Given the description of an element on the screen output the (x, y) to click on. 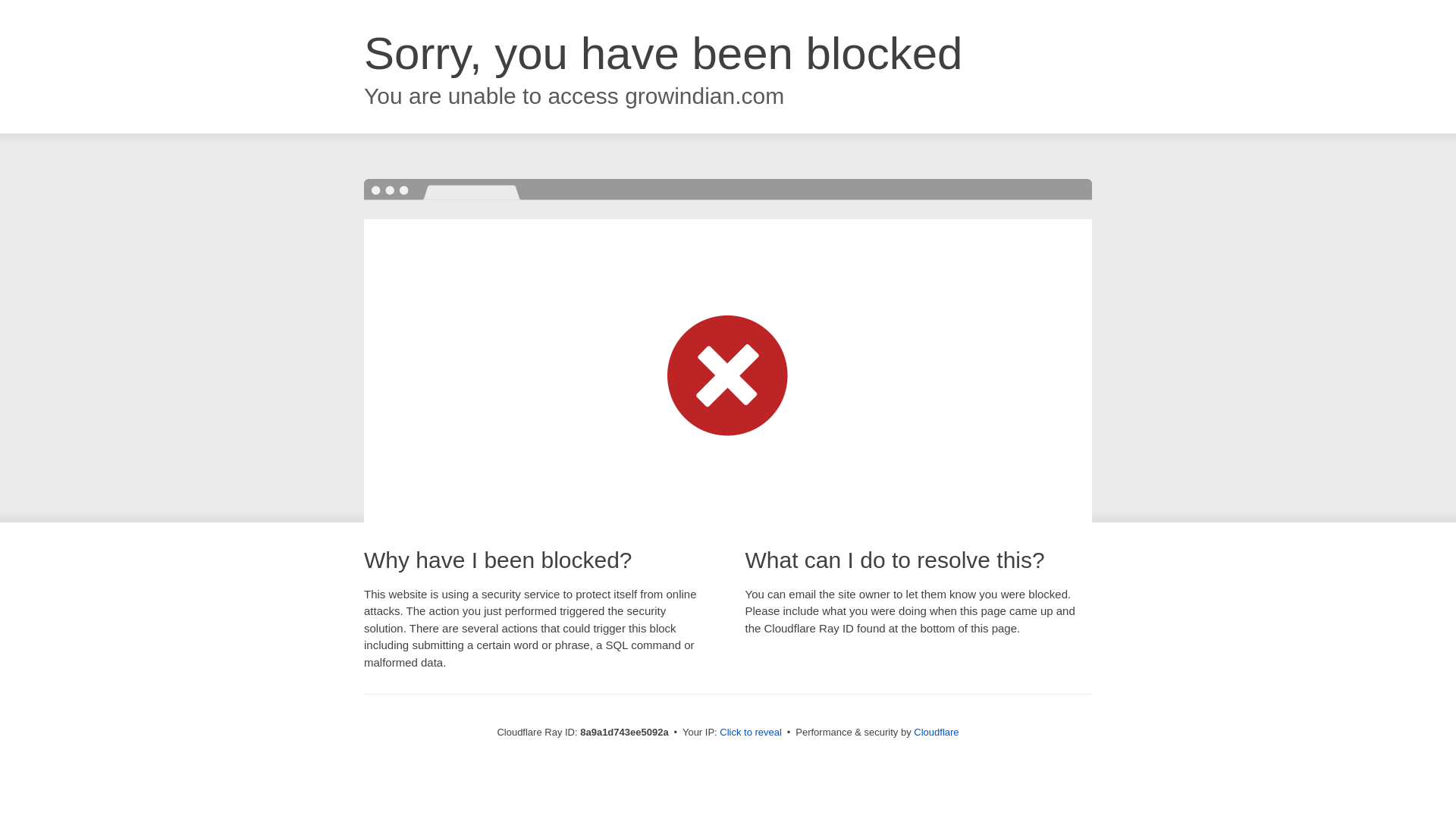
Cloudflare (936, 731)
Click to reveal (750, 732)
